Given the description of an element on the screen output the (x, y) to click on. 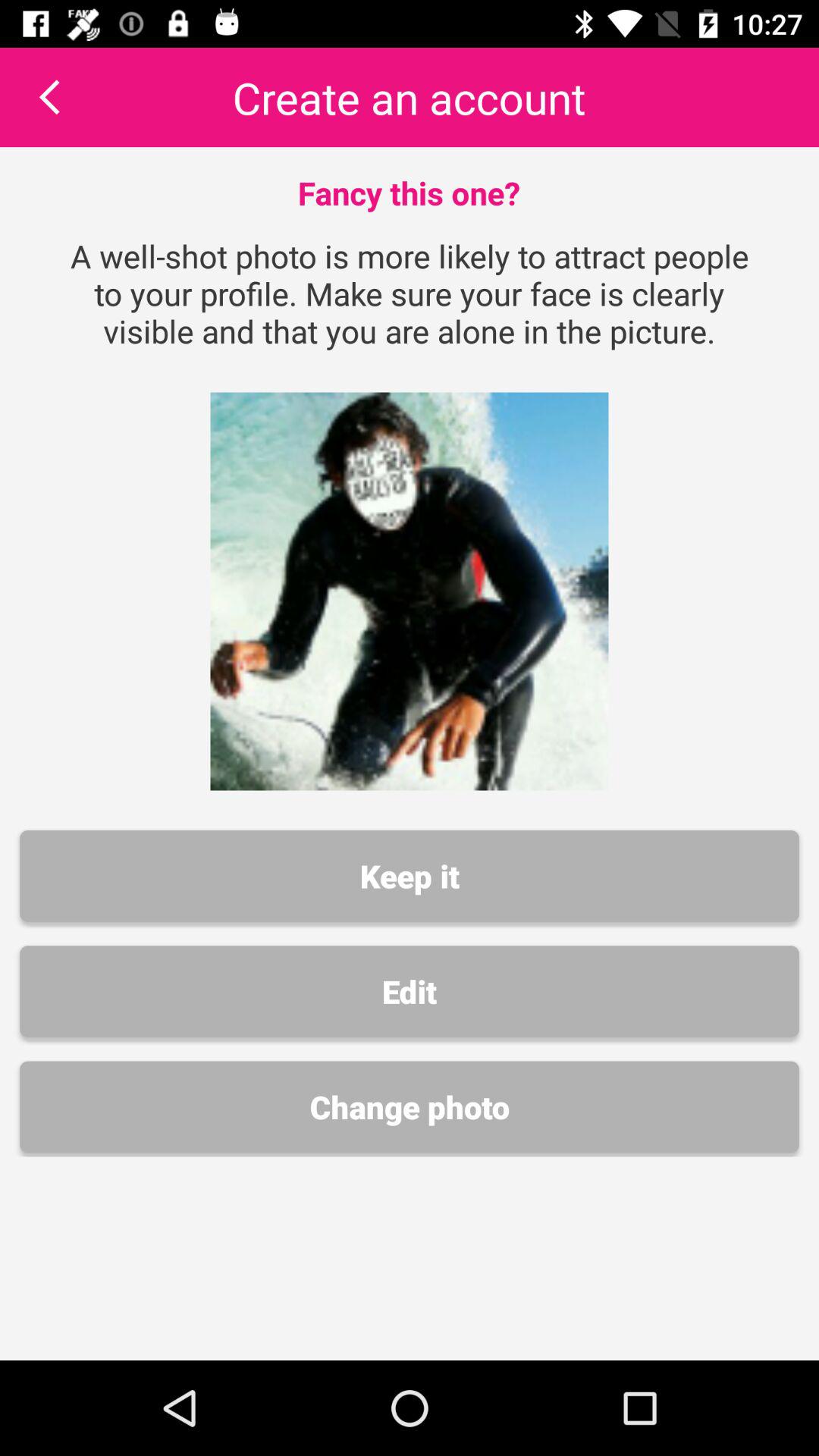
scroll until the change photo button (409, 1106)
